Given the description of an element on the screen output the (x, y) to click on. 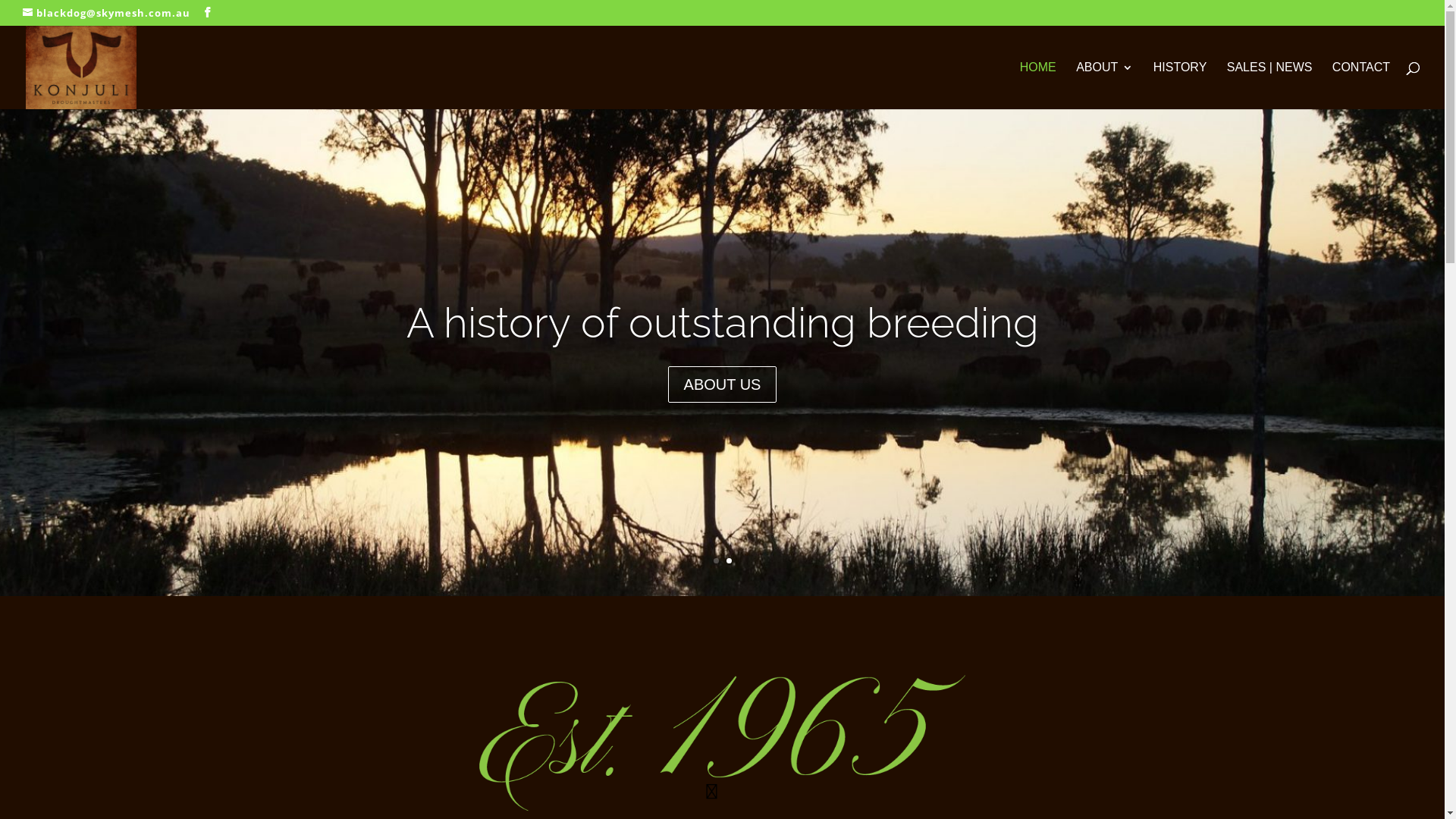
ABOUT Element type: text (1104, 85)
A history of outstanding breeding Element type: text (722, 322)
SALES | NEWS Element type: text (1269, 85)
HOME Element type: text (1037, 85)
2 Element type: text (728, 560)
ABOUT US Element type: text (722, 384)
blackdog@skymesh.com.au Element type: text (106, 12)
1 Element type: text (715, 560)
HISTORY Element type: text (1180, 85)
CONTACT Element type: text (1361, 85)
